Given the description of an element on the screen output the (x, y) to click on. 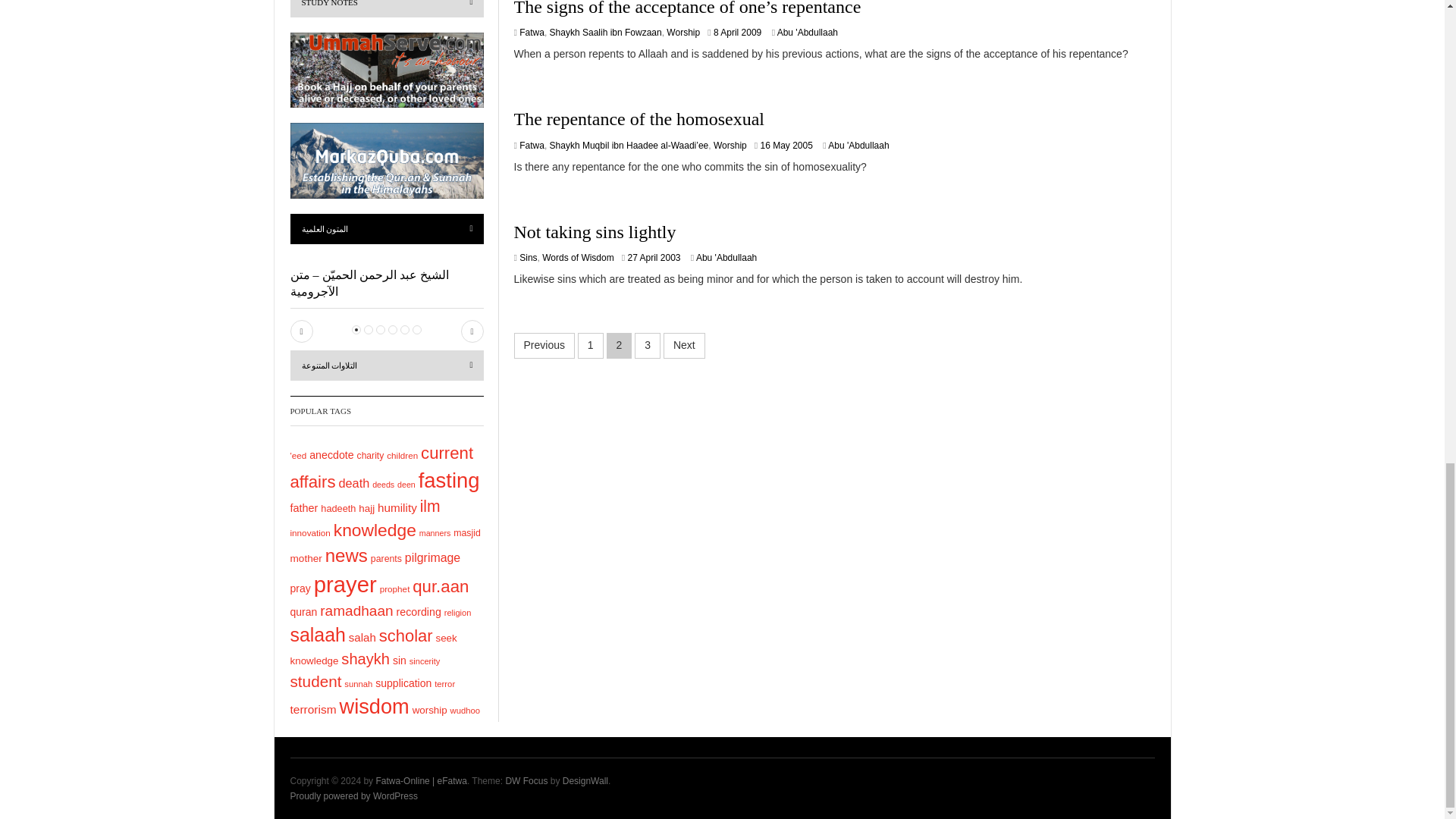
Markaz Quba, Nepal (386, 160)
WordPress News Theme (526, 780)
